Given the description of an element on the screen output the (x, y) to click on. 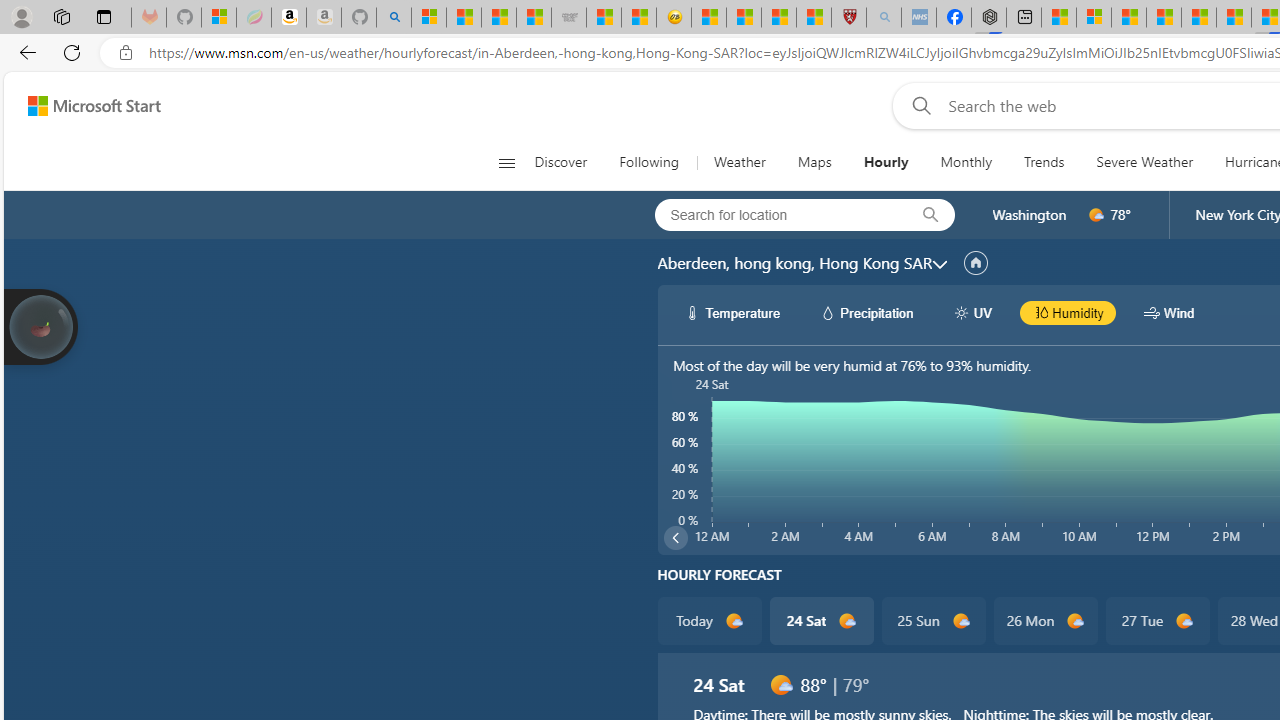
Maps (813, 162)
